Given the description of an element on the screen output the (x, y) to click on. 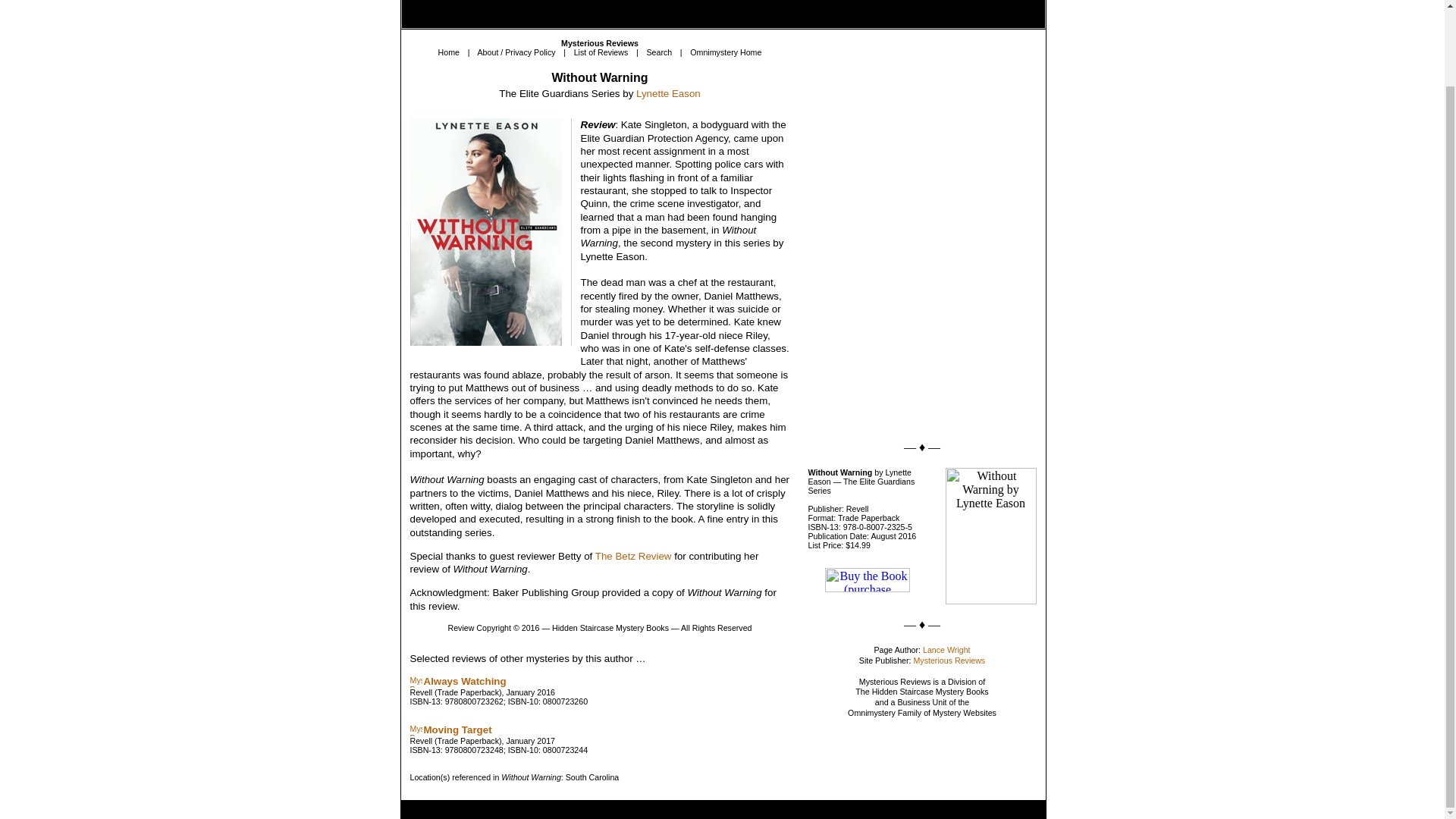
Lance Wright (947, 649)
A review of Without Warning by Lynette Eason (599, 77)
Lynette Eason (668, 93)
Always Watching (464, 681)
Home (449, 51)
Search (658, 51)
Omnimystery Home (725, 51)
Moving Target (457, 729)
Mysterious Reviews (948, 660)
Advertisement (912, 331)
